Given the description of an element on the screen output the (x, y) to click on. 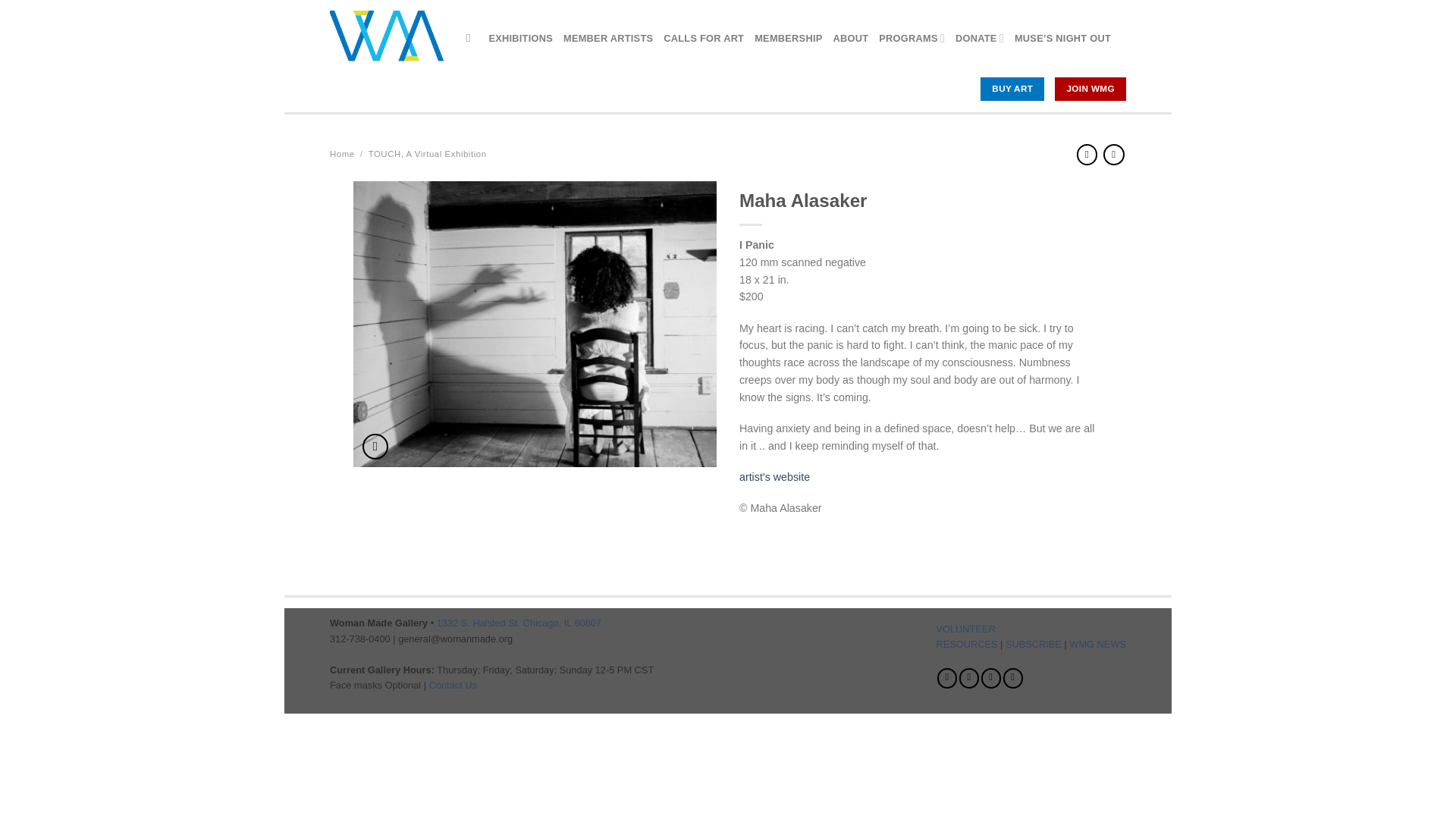
ABOUT (850, 37)
CALLS FOR ART (703, 37)
Zoom (375, 447)
TOUCH, A Virtual Exhibition (427, 153)
MEMBERSHIP (788, 37)
EXHIBITIONS (520, 37)
MEMBER ARTISTS (607, 37)
Home (342, 153)
alasaker-maha-i-panic1 (534, 336)
